Given the description of an element on the screen output the (x, y) to click on. 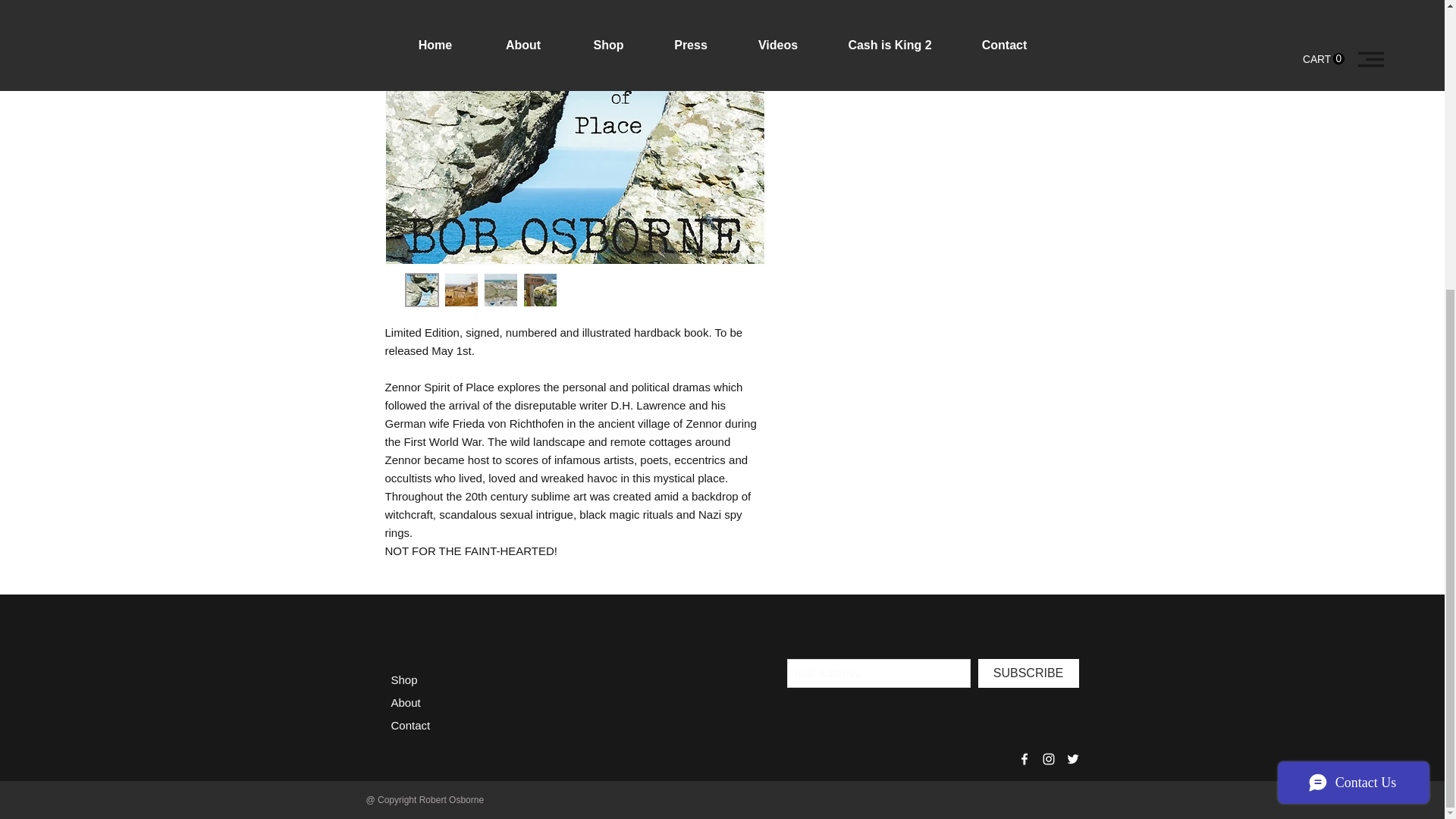
Contact (410, 725)
Shop (404, 679)
About (405, 702)
SUBSCRIBE (1028, 673)
